Given the description of an element on the screen output the (x, y) to click on. 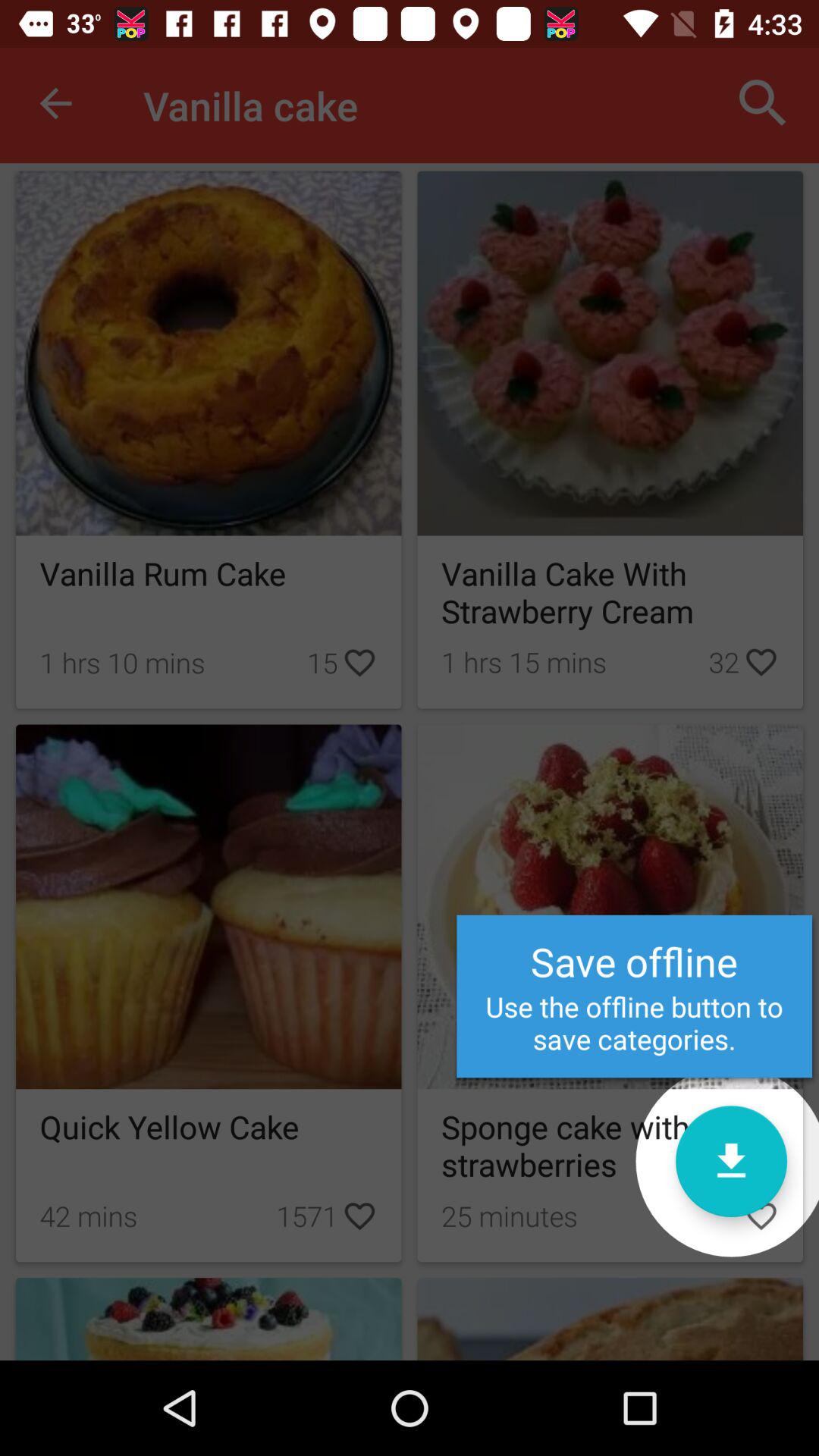
save offline categories (731, 1161)
